Given the description of an element on the screen output the (x, y) to click on. 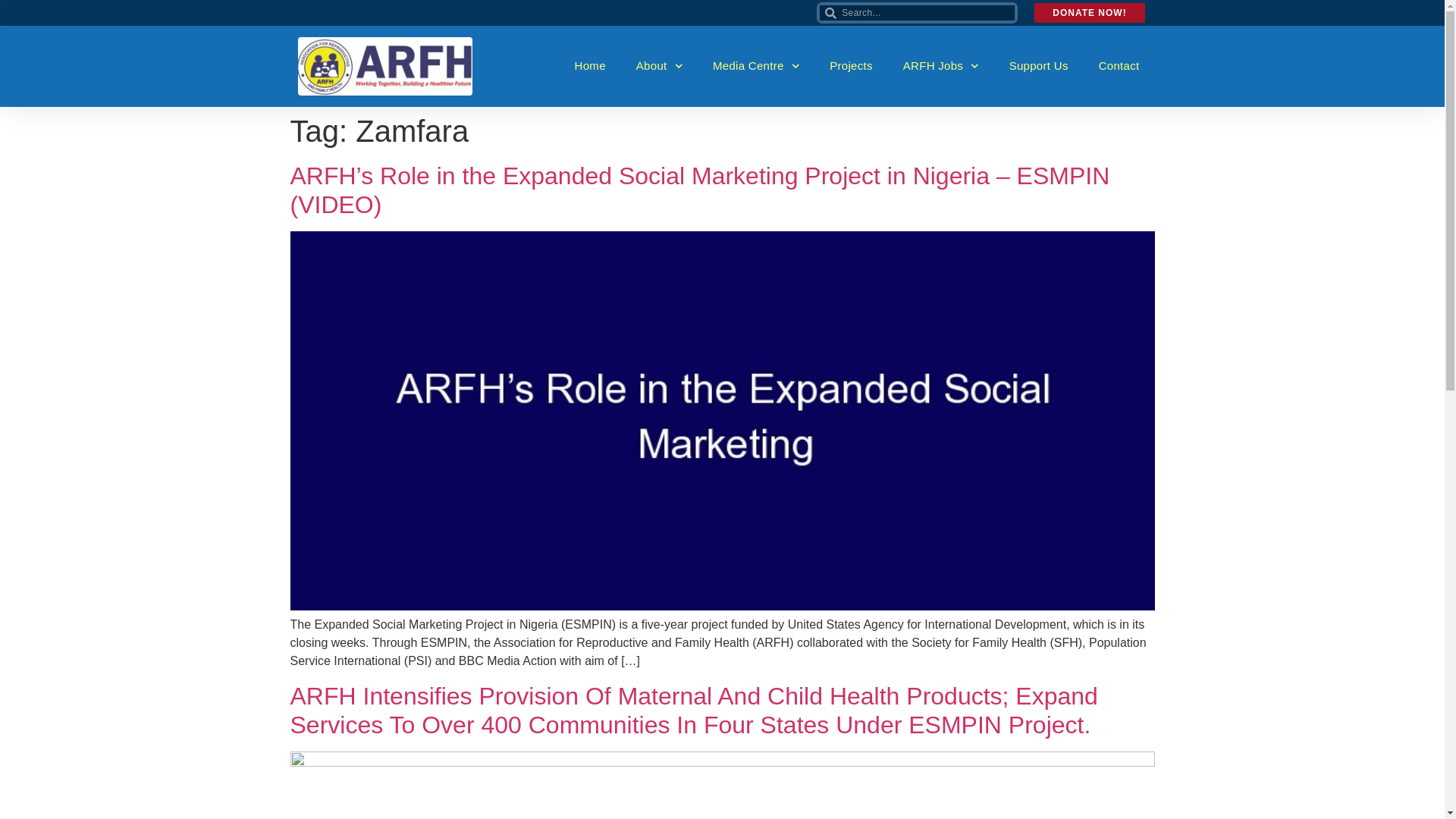
About (659, 65)
ARFH Jobs (941, 65)
Support Us (1038, 65)
Media Centre (755, 65)
Home (590, 65)
DONATE NOW! (1088, 12)
Contact (1118, 65)
Projects (850, 65)
